Given the description of an element on the screen output the (x, y) to click on. 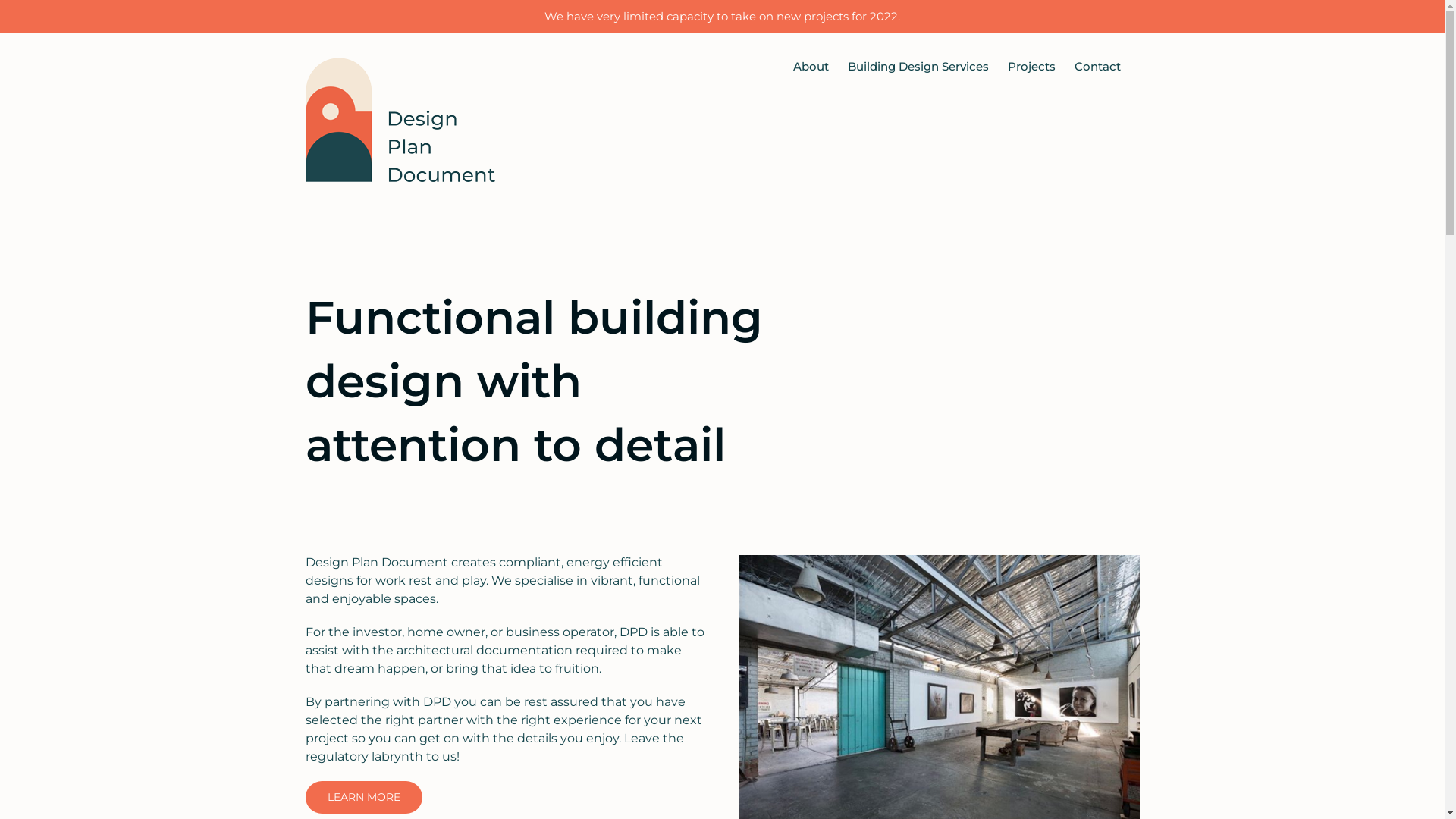
LEARN MORE Element type: text (362, 797)
Building Design Services Element type: text (917, 65)
Projects Element type: text (1030, 65)
About Element type: text (810, 65)
Contact Element type: text (1096, 65)
